Given the description of an element on the screen output the (x, y) to click on. 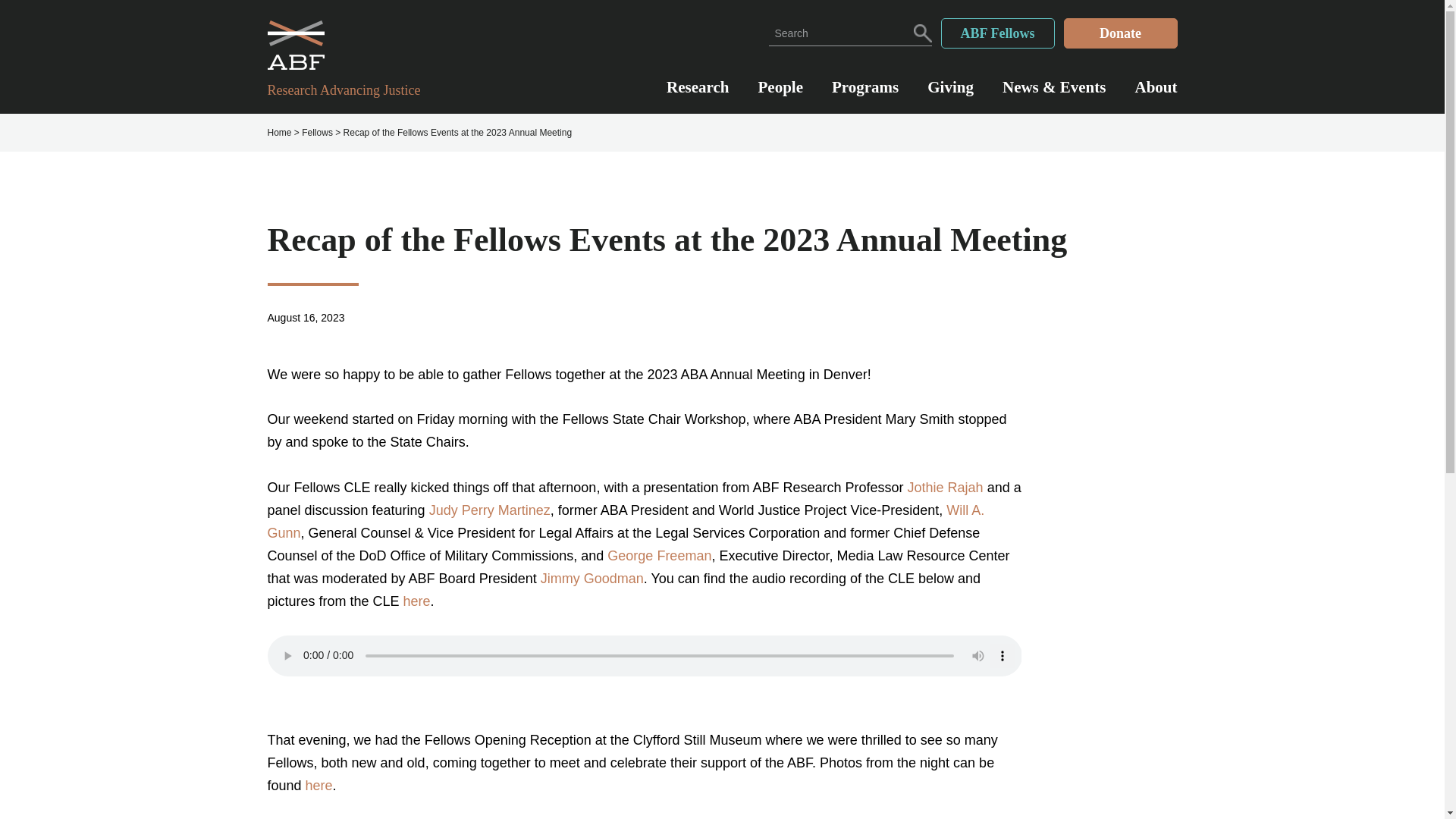
ABF Fellows (997, 33)
Donate (1119, 33)
Giving (950, 94)
About (1155, 94)
Home (278, 132)
People (780, 94)
Programs (864, 94)
ABF (352, 44)
Research (697, 94)
